Given the description of an element on the screen output the (x, y) to click on. 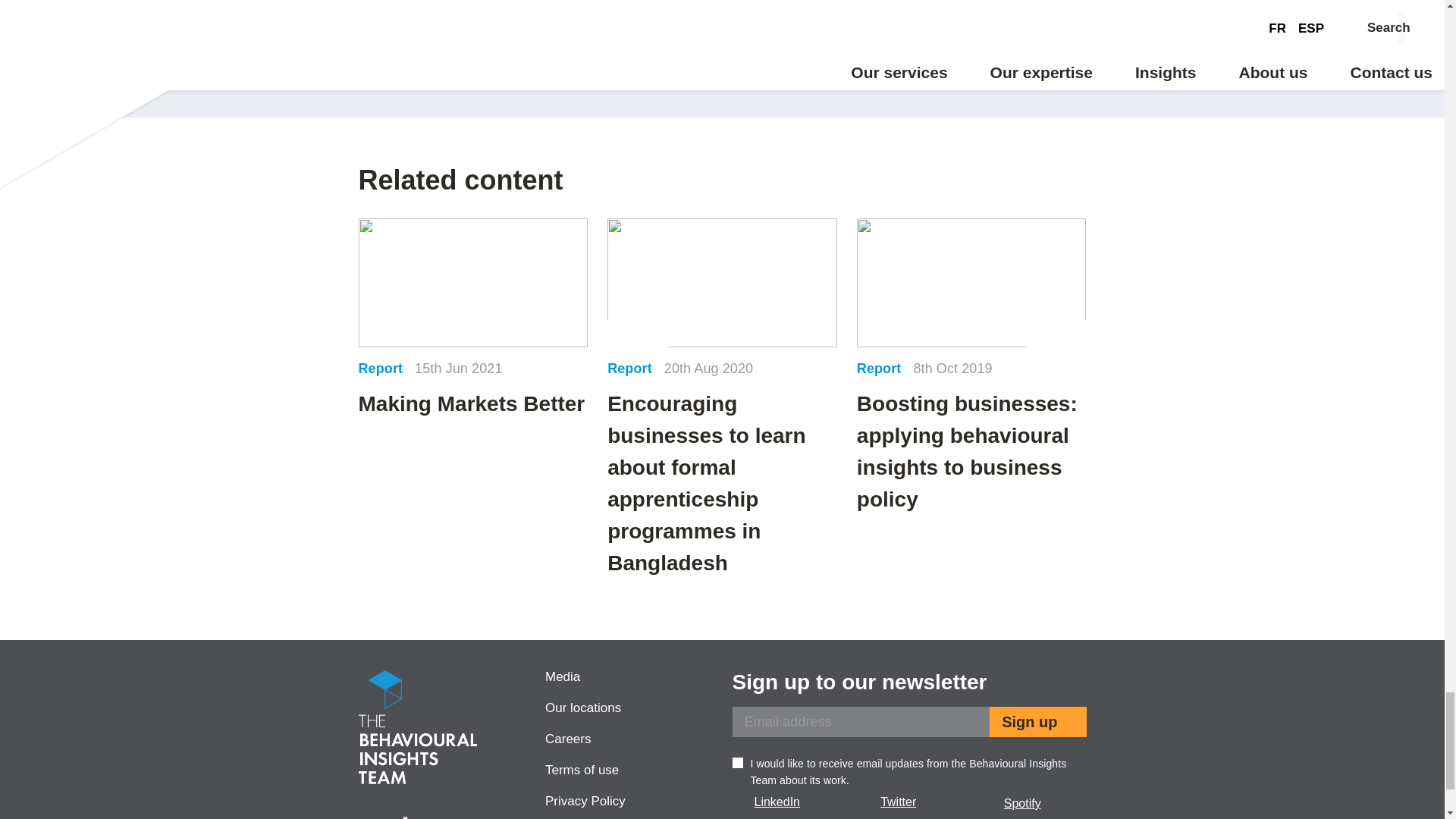
Professor David Halpern CBE (534, 43)
Making Markets Better (473, 319)
Nida Broughton (909, 43)
